Given the description of an element on the screen output the (x, y) to click on. 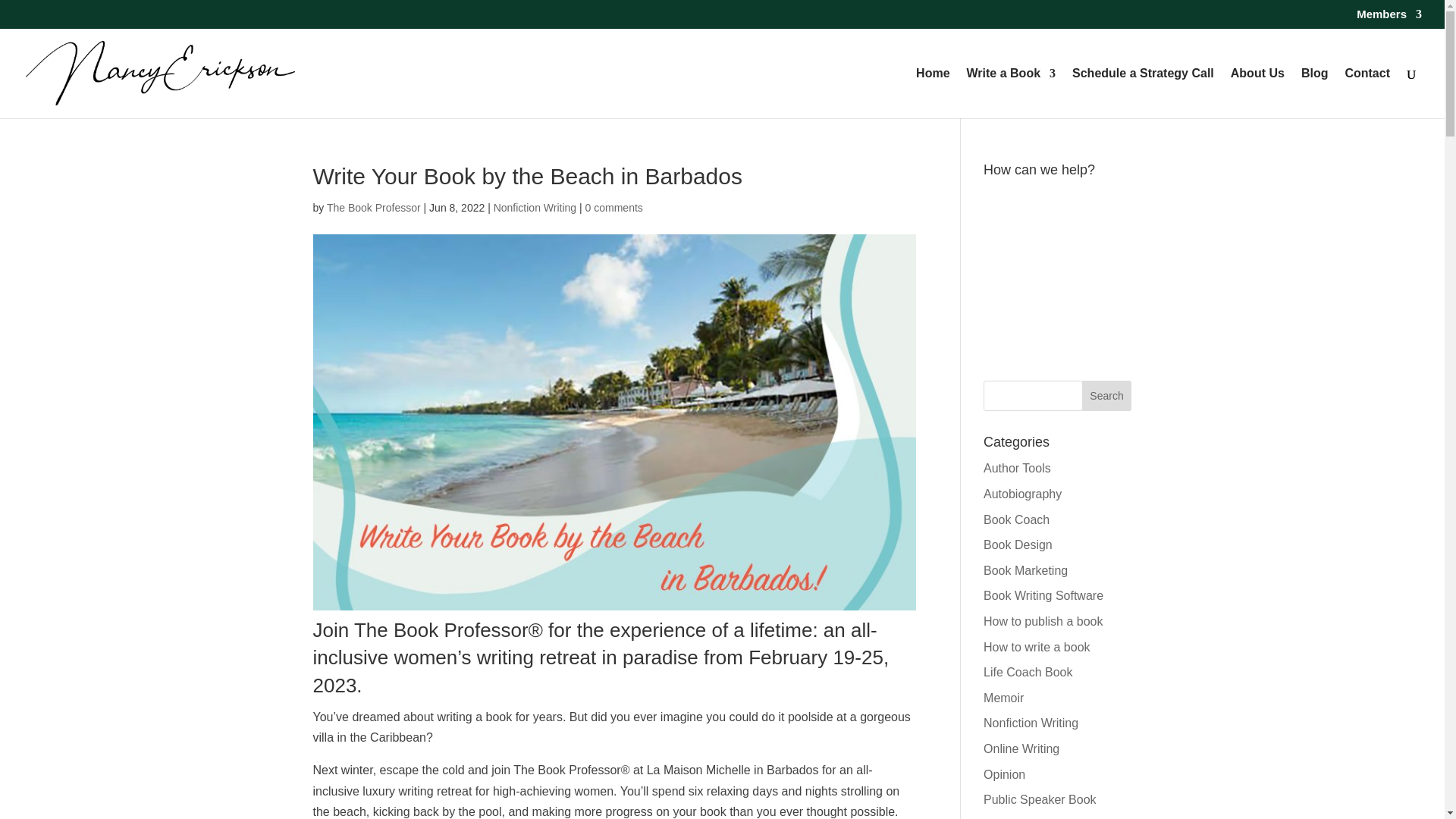
Posts by The Book Professor (373, 207)
Contact (1366, 92)
Members (1389, 17)
Search (1106, 395)
Schedule a Strategy Call (1142, 92)
0 comments (614, 207)
Nonfiction Writing (534, 207)
The Book Professor (373, 207)
Write a Book (1011, 92)
About Us (1257, 92)
